Given the description of an element on the screen output the (x, y) to click on. 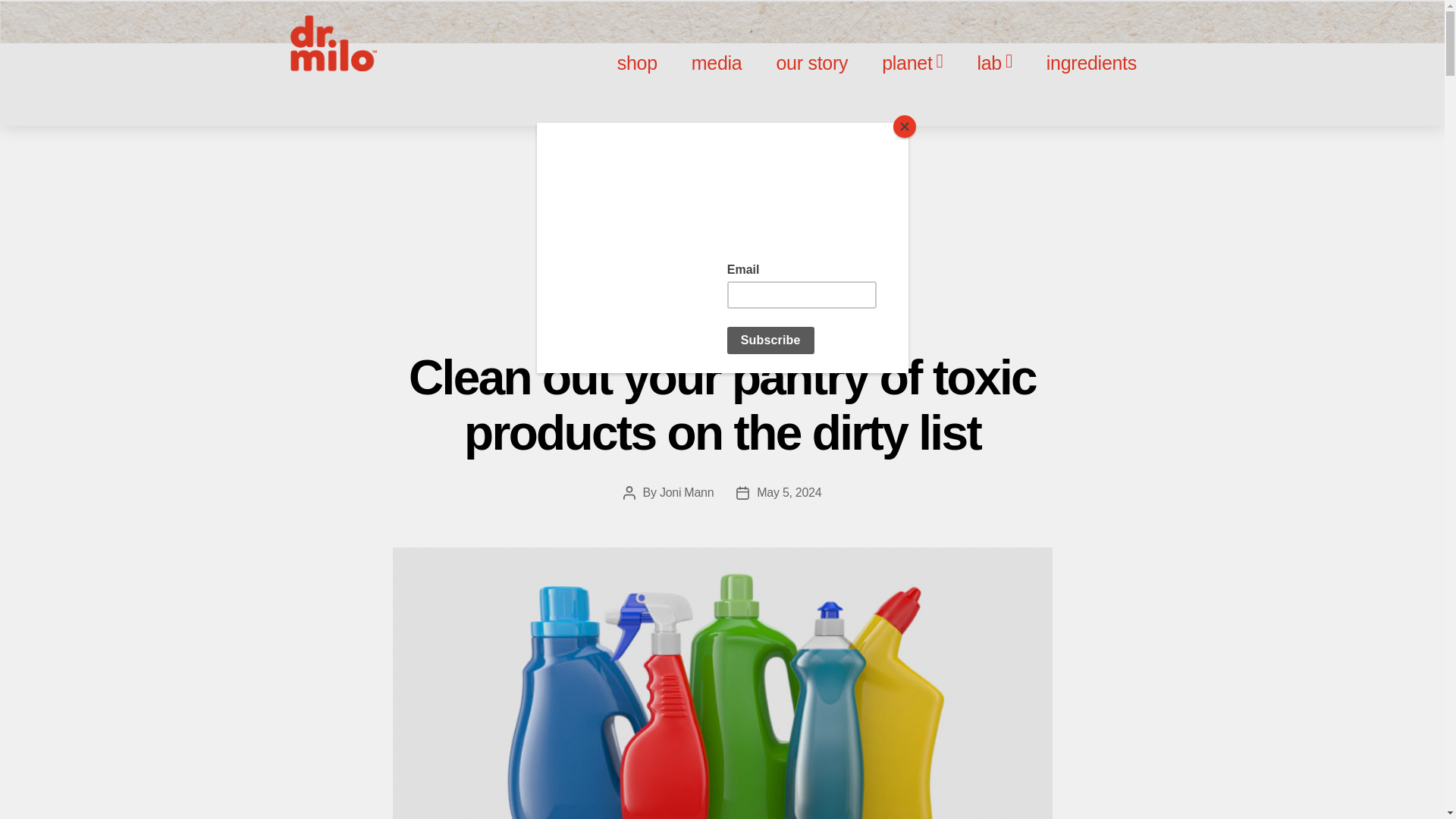
Clean out your pantry of toxic products on the dirty list (722, 405)
ingredients (1090, 62)
shop (637, 62)
May 5, 2024 (789, 492)
Joni Mann (686, 492)
